Given the description of an element on the screen output the (x, y) to click on. 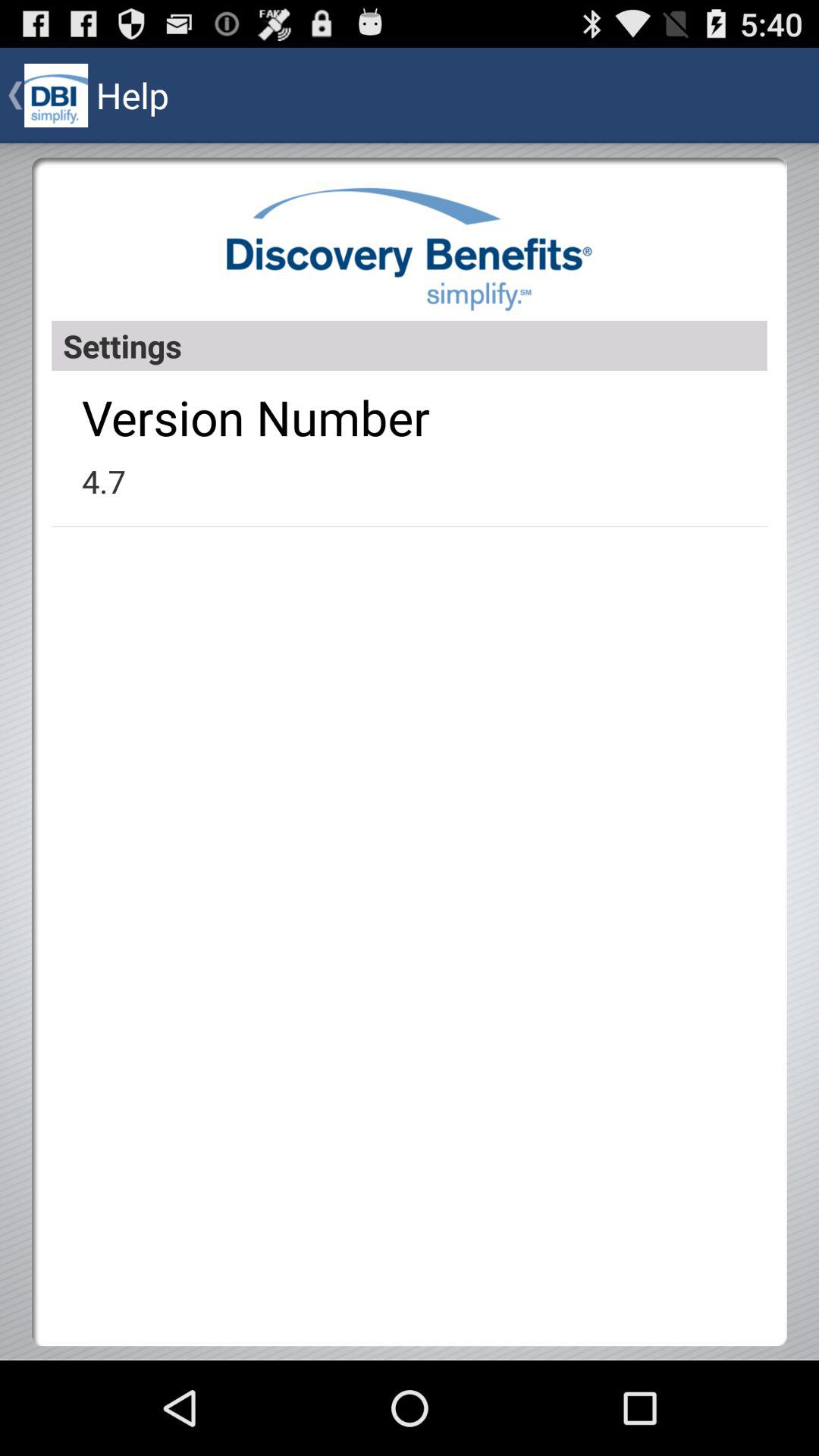
launch settings icon (409, 345)
